Given the description of an element on the screen output the (x, y) to click on. 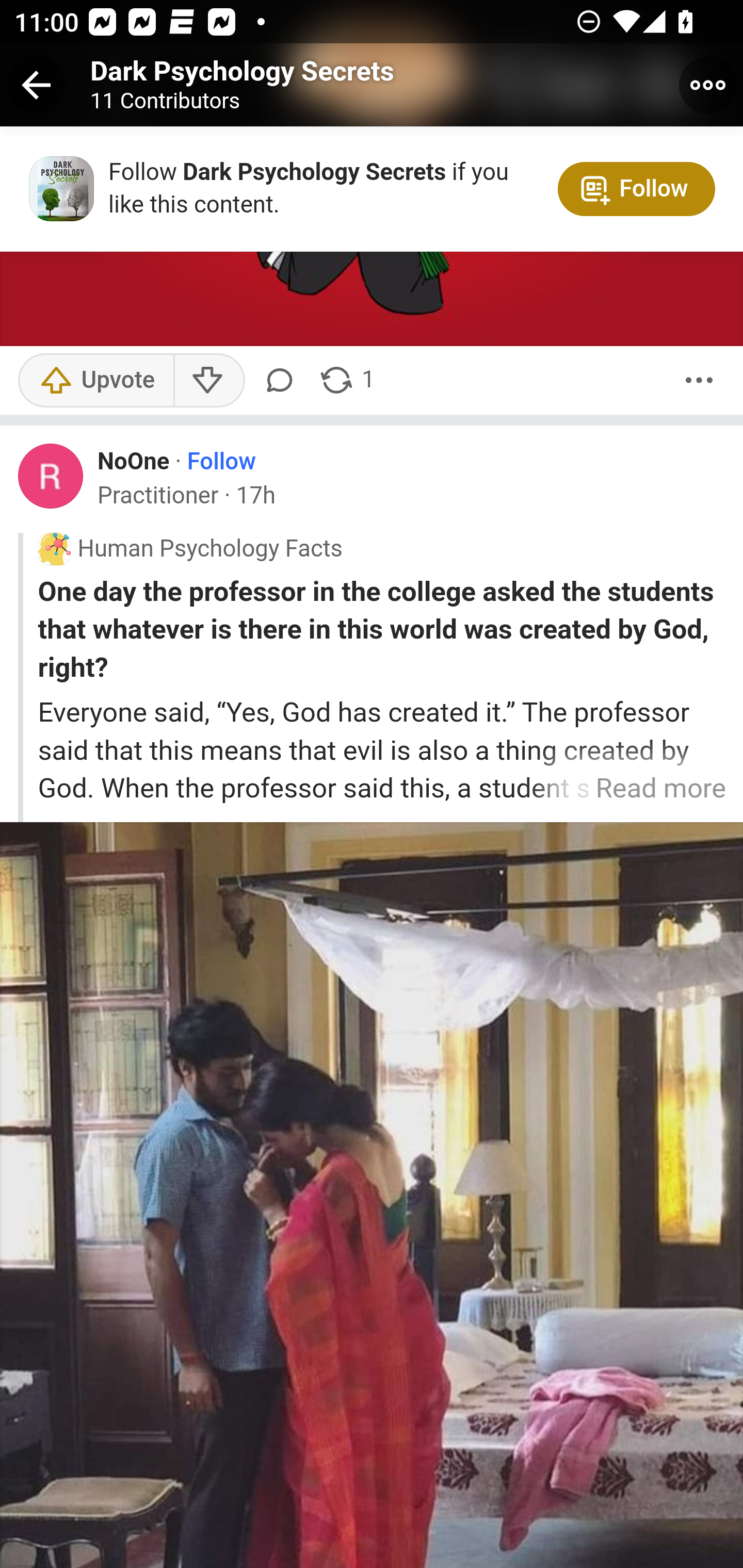
Upvote (95, 380)
Downvote (208, 380)
Comment (283, 380)
1 share (346, 380)
More (699, 380)
Profile photo for NoOne (50, 476)
NoOne (134, 461)
Follow (220, 462)
Icon for Human Psychology Facts (54, 549)
